Given the description of an element on the screen output the (x, y) to click on. 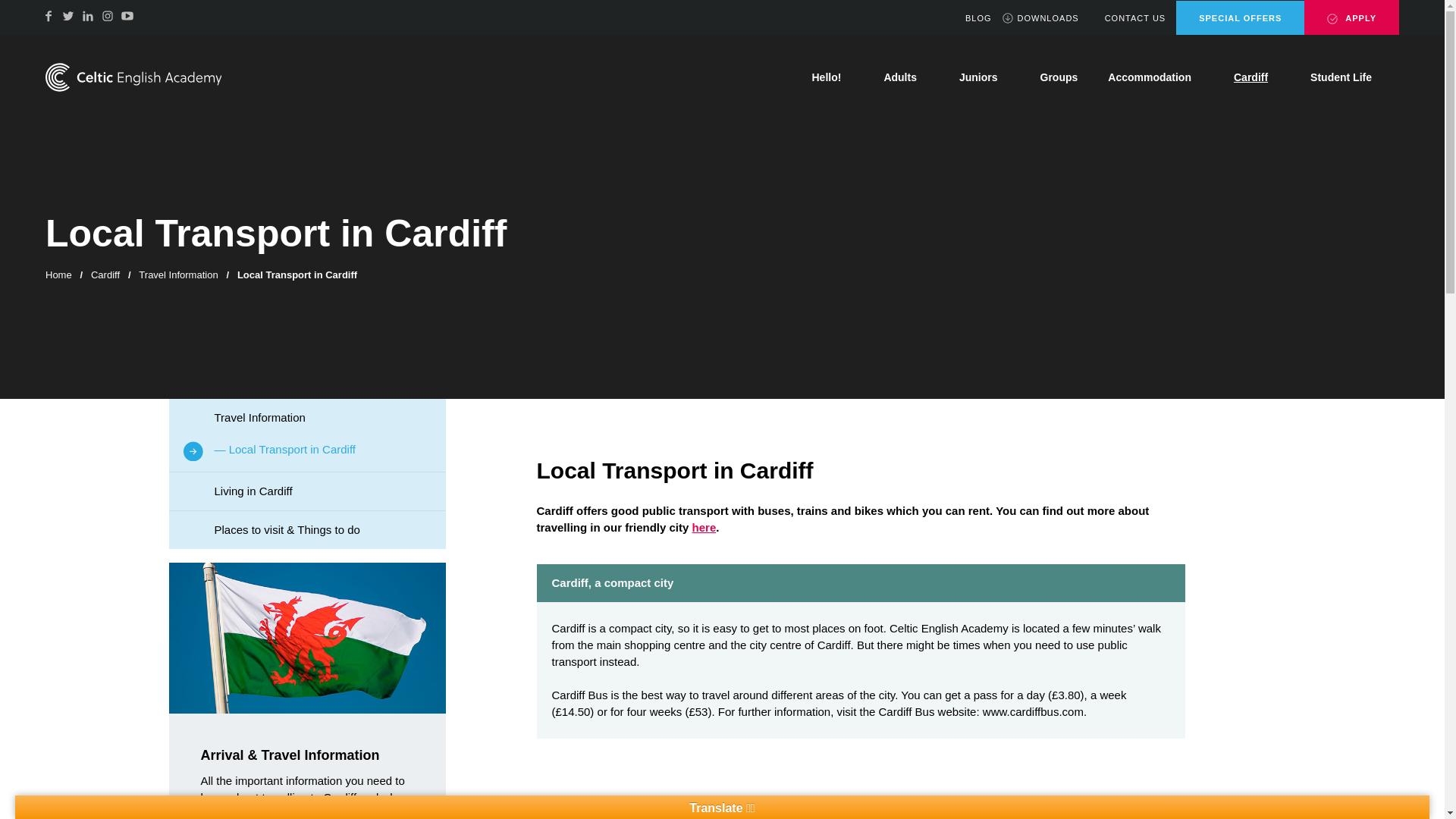
Adults (906, 77)
Find us on Twitter (68, 15)
Find us on Facebook (48, 15)
Find us on Twitter (68, 15)
BLOG (970, 18)
Find us on LinkedIn (87, 15)
Find us on LinkedIn (87, 15)
Find us on YouTube (126, 15)
Find us on YouTube (126, 15)
Hello! (831, 77)
Find us on Facebook (48, 15)
SPECIAL OFFERS (1240, 17)
Find us on Instagram (107, 15)
APPLY (1351, 17)
CONTACT US (1127, 18)
